Given the description of an element on the screen output the (x, y) to click on. 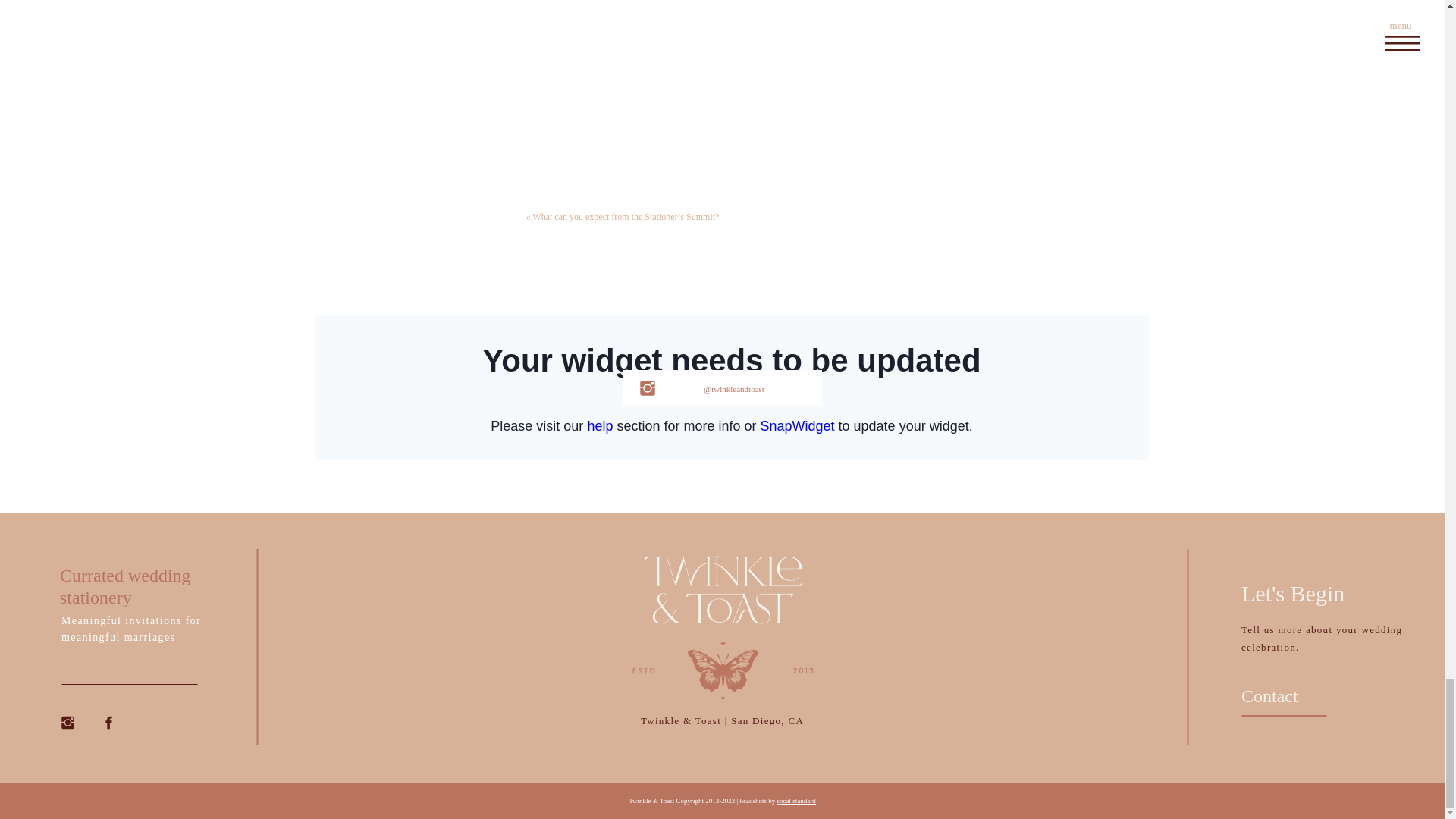
socal standard (796, 800)
home (659, 685)
contact (792, 720)
galleries (652, 721)
info (788, 685)
about (722, 685)
